Given the description of an element on the screen output the (x, y) to click on. 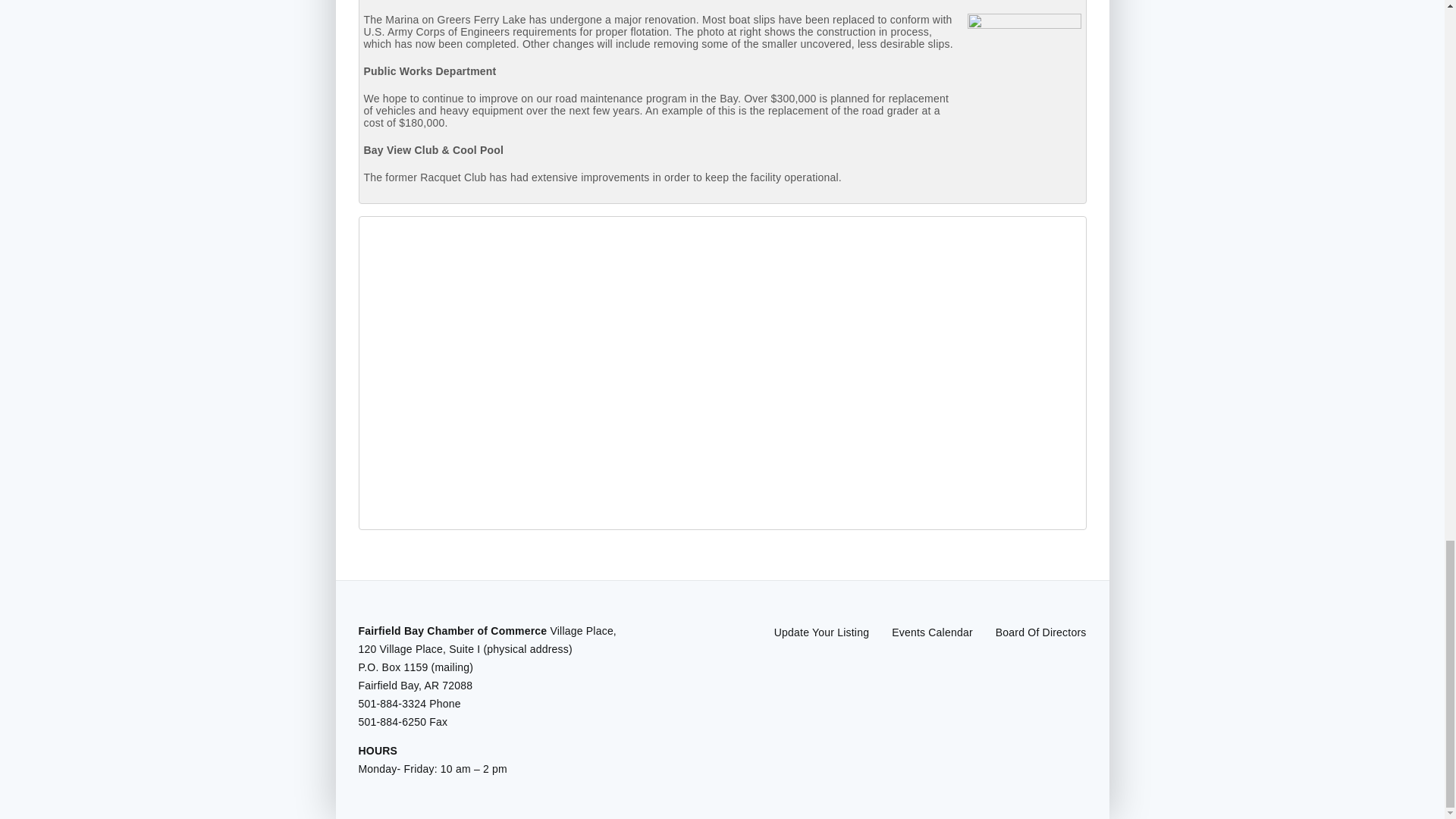
marina (1024, 70)
